Given the description of an element on the screen output the (x, y) to click on. 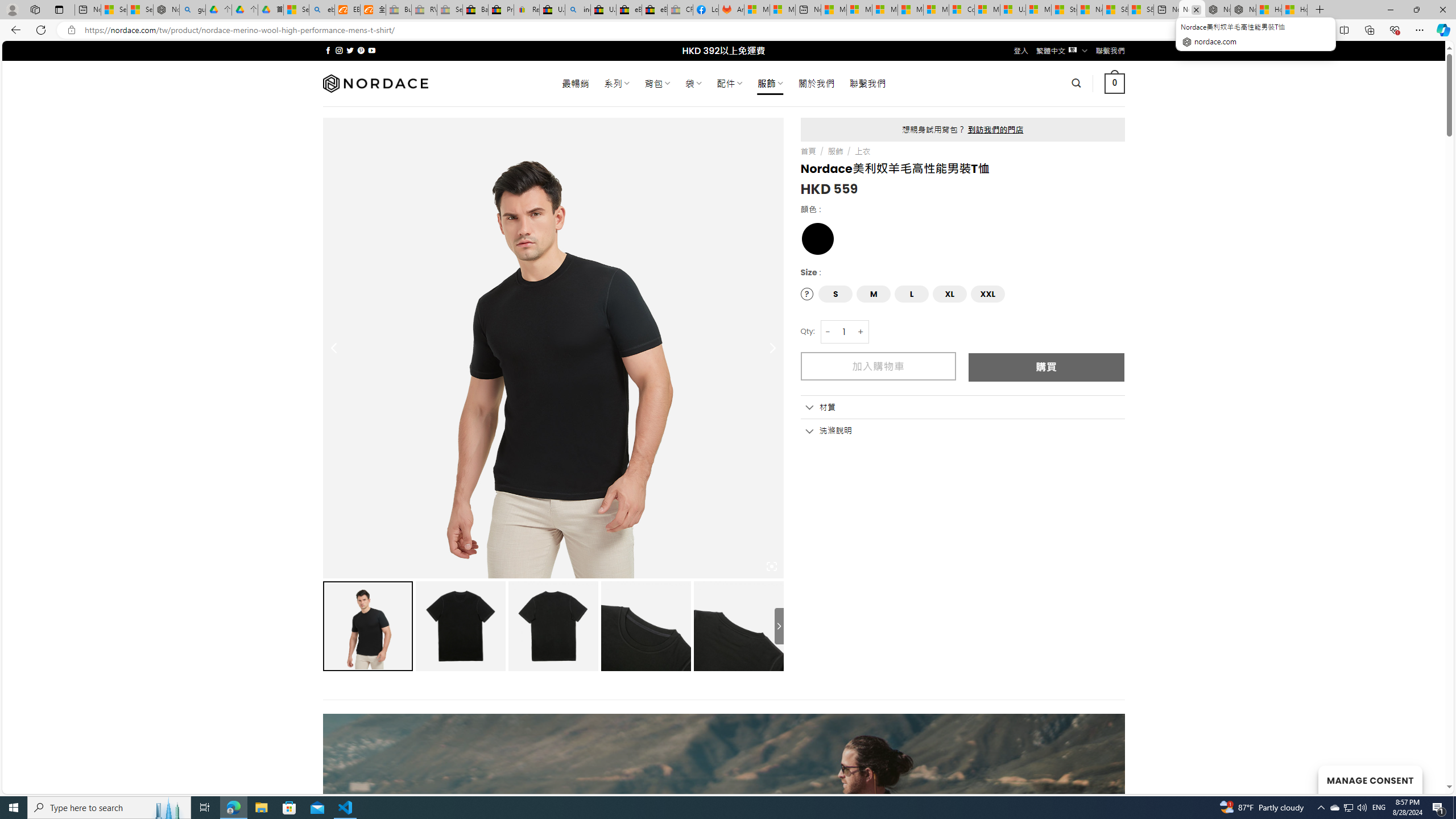
Browser essentials (1394, 29)
